Given the description of an element on the screen output the (x, y) to click on. 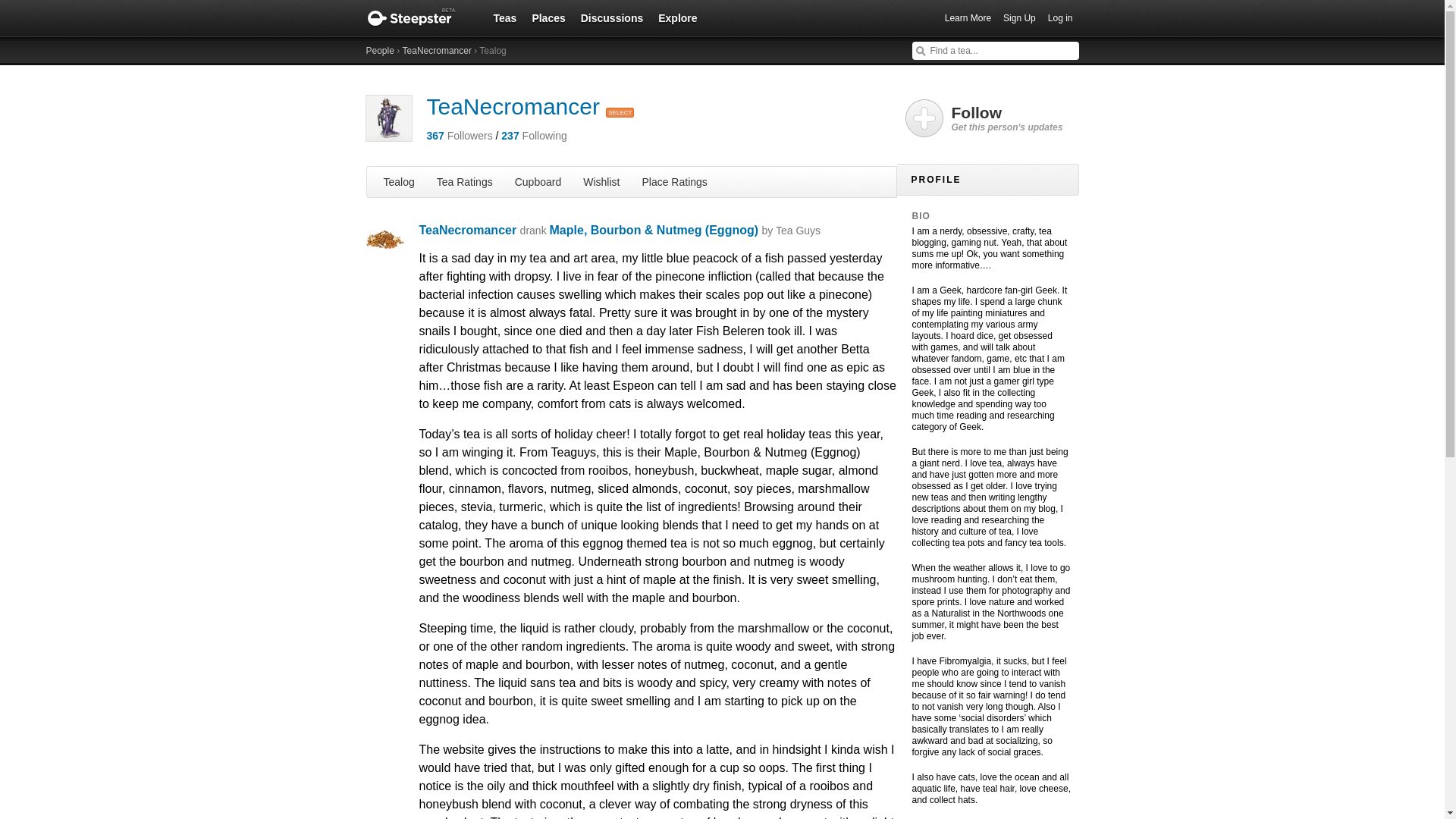
Sign Up (1019, 18)
Learn More (968, 18)
TeaNecromancer (437, 50)
TeaNecromancer (467, 229)
TeaNecromancer (512, 106)
People (379, 50)
367 Followers (459, 135)
Place Ratings (673, 181)
Discussions (612, 17)
Explore (677, 17)
